Given the description of an element on the screen output the (x, y) to click on. 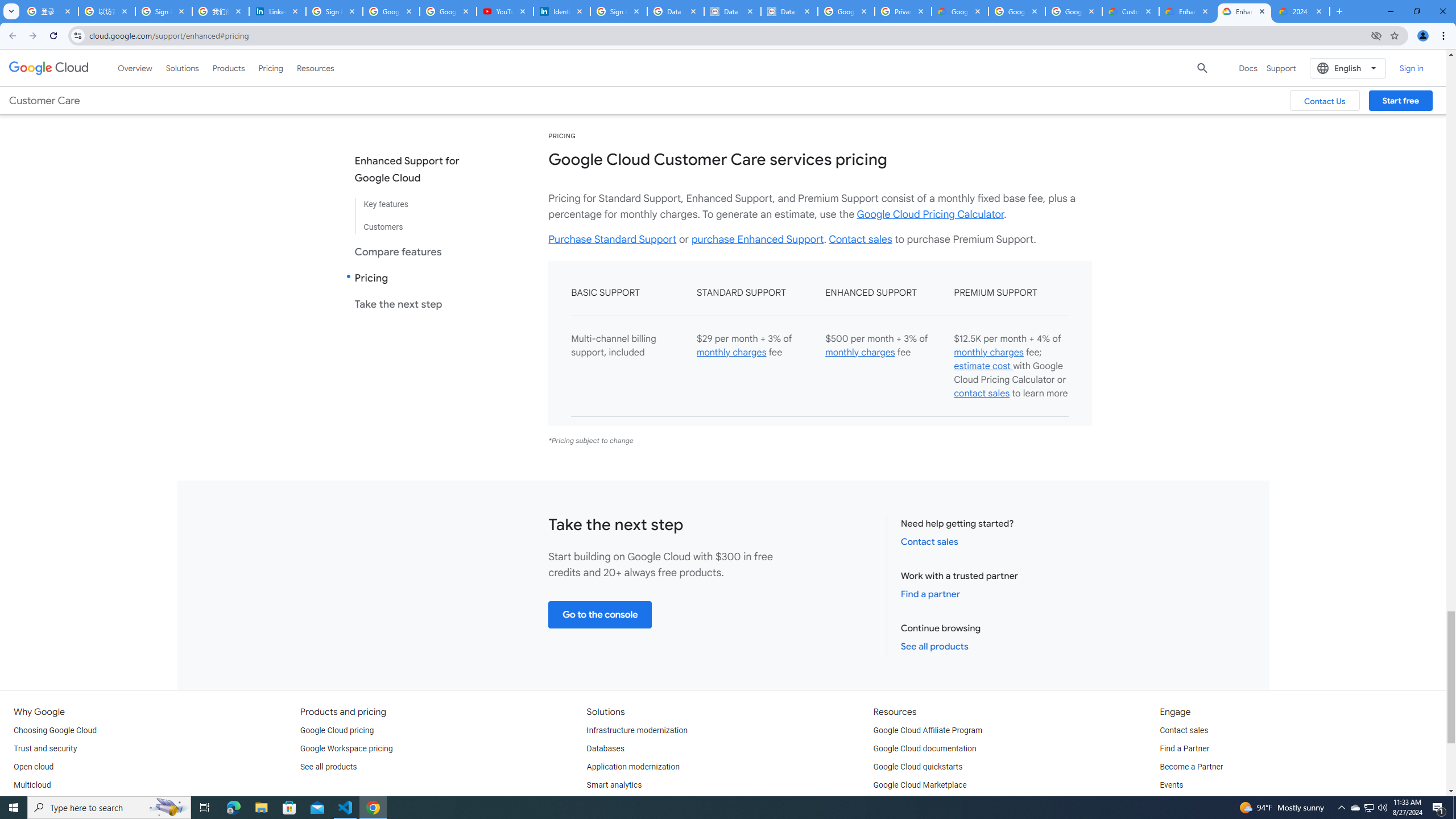
Events (1170, 784)
Application modernization (632, 766)
See all products (327, 766)
Customer Care | Google Cloud (1130, 11)
Podcasts (1175, 802)
Artificial Intelligence (622, 802)
Databases (605, 748)
Learn about cloud computing (924, 802)
Purchase Standard Support (612, 238)
